Given the description of an element on the screen output the (x, y) to click on. 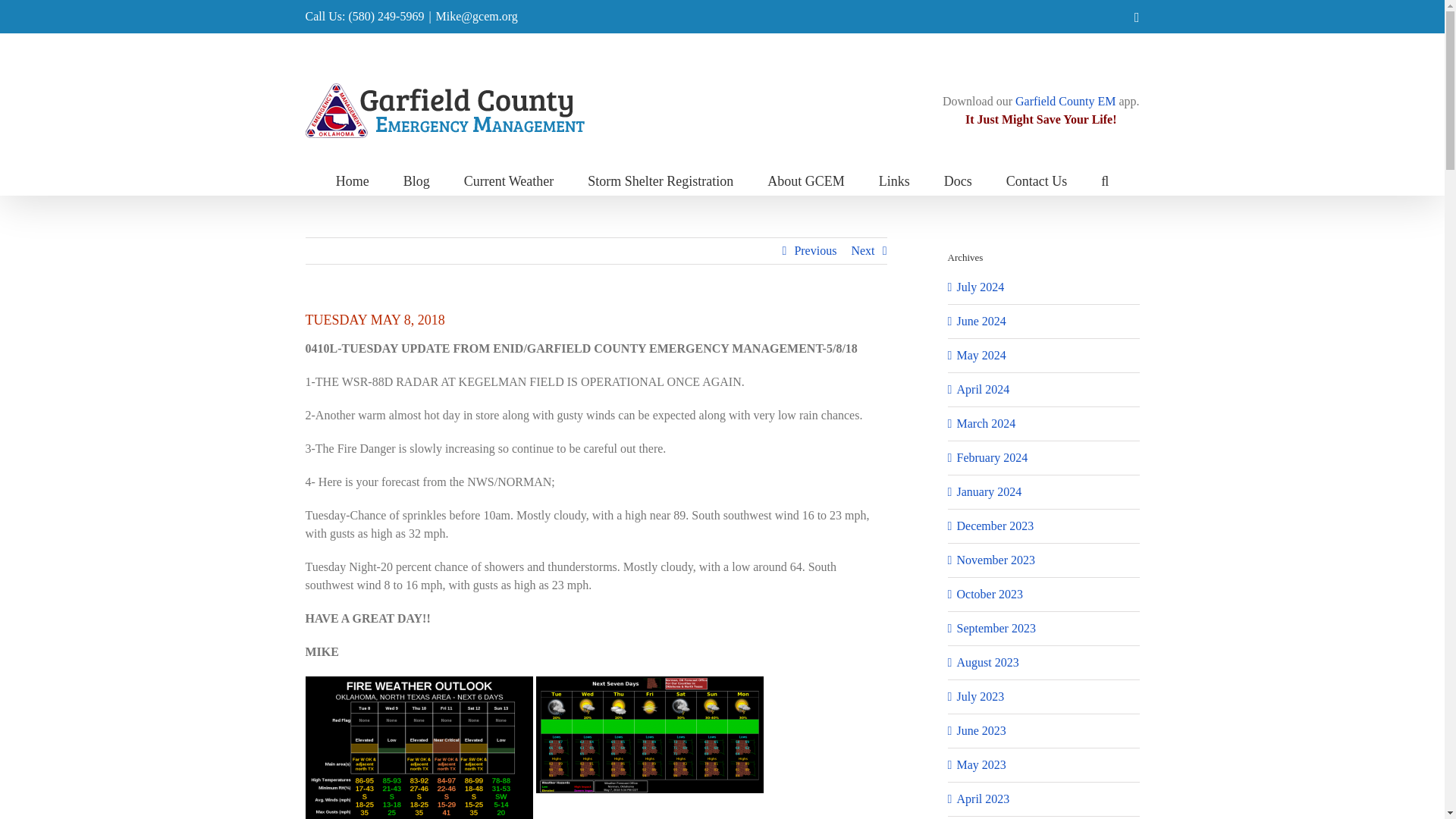
Contact Us (1036, 179)
Docs (957, 179)
Garfield County EM (1064, 101)
Current Weather (509, 179)
Links (894, 179)
About GCEM (805, 179)
Home (352, 179)
Storm Shelter Registration (660, 179)
